Given the description of an element on the screen output the (x, y) to click on. 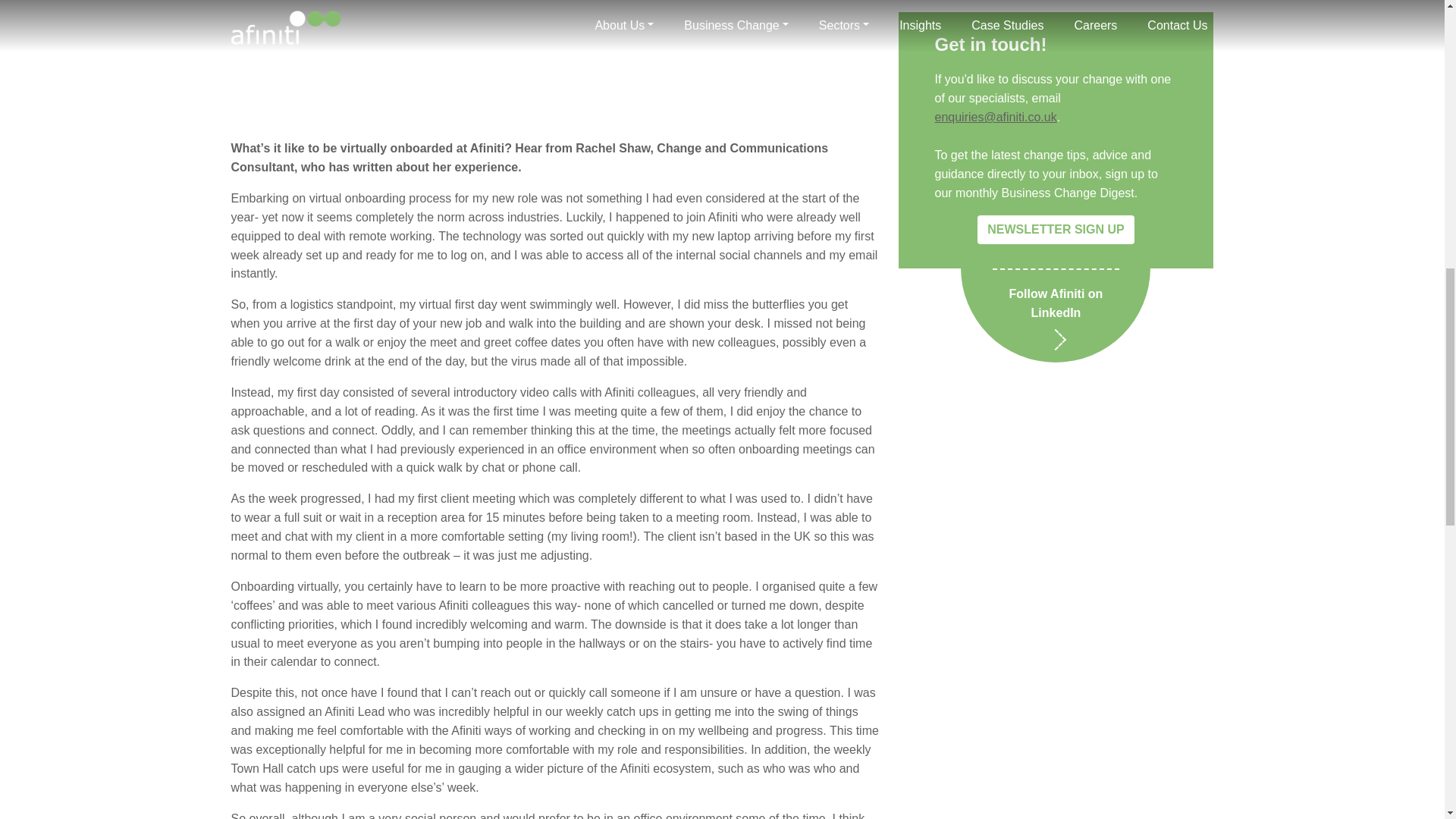
Follow Afiniti on LinkedIn (1055, 98)
NEWSLETTER SIGN UP (1055, 14)
